Given the description of an element on the screen output the (x, y) to click on. 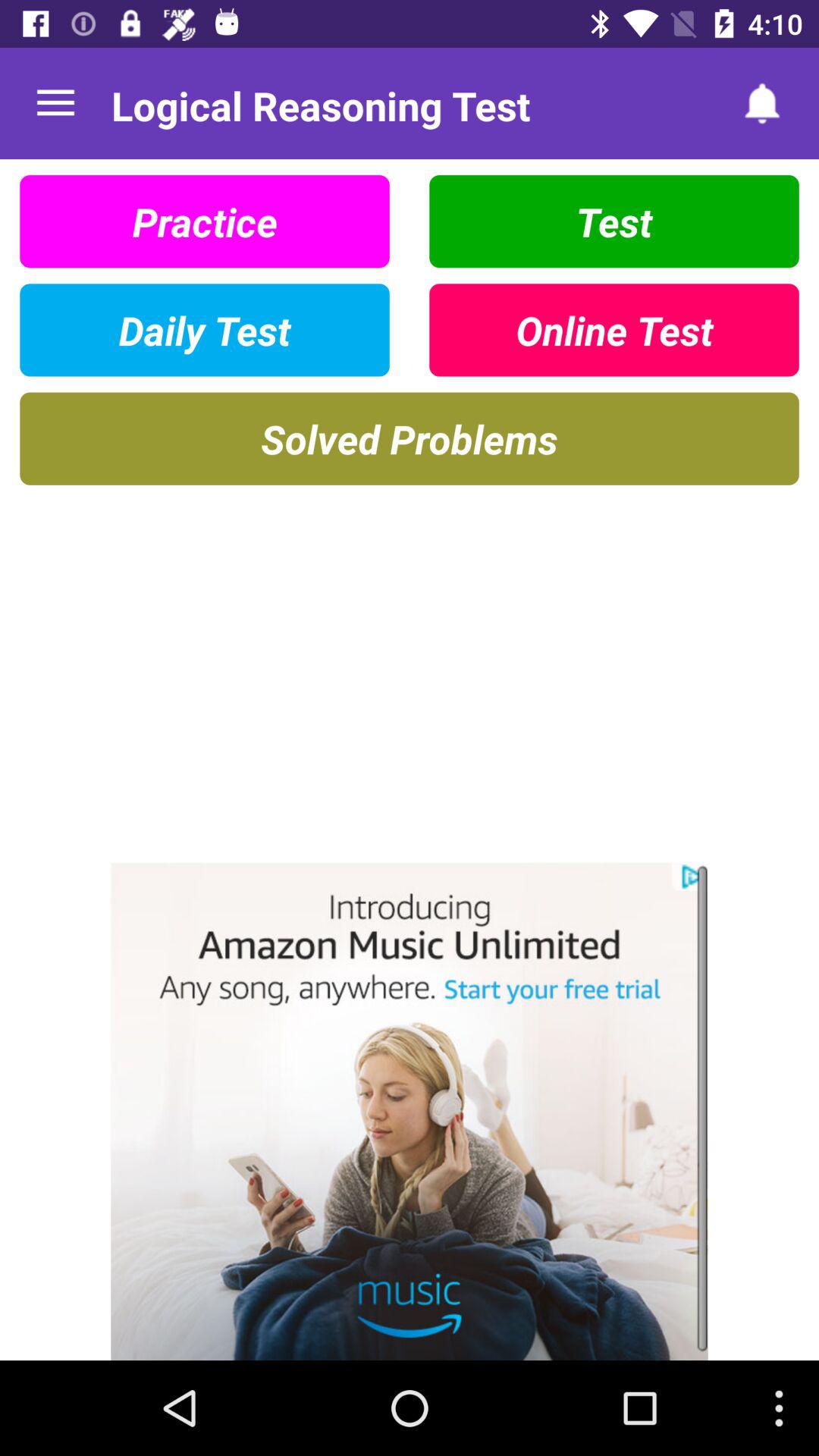
go to amazon music (409, 1111)
